Given the description of an element on the screen output the (x, y) to click on. 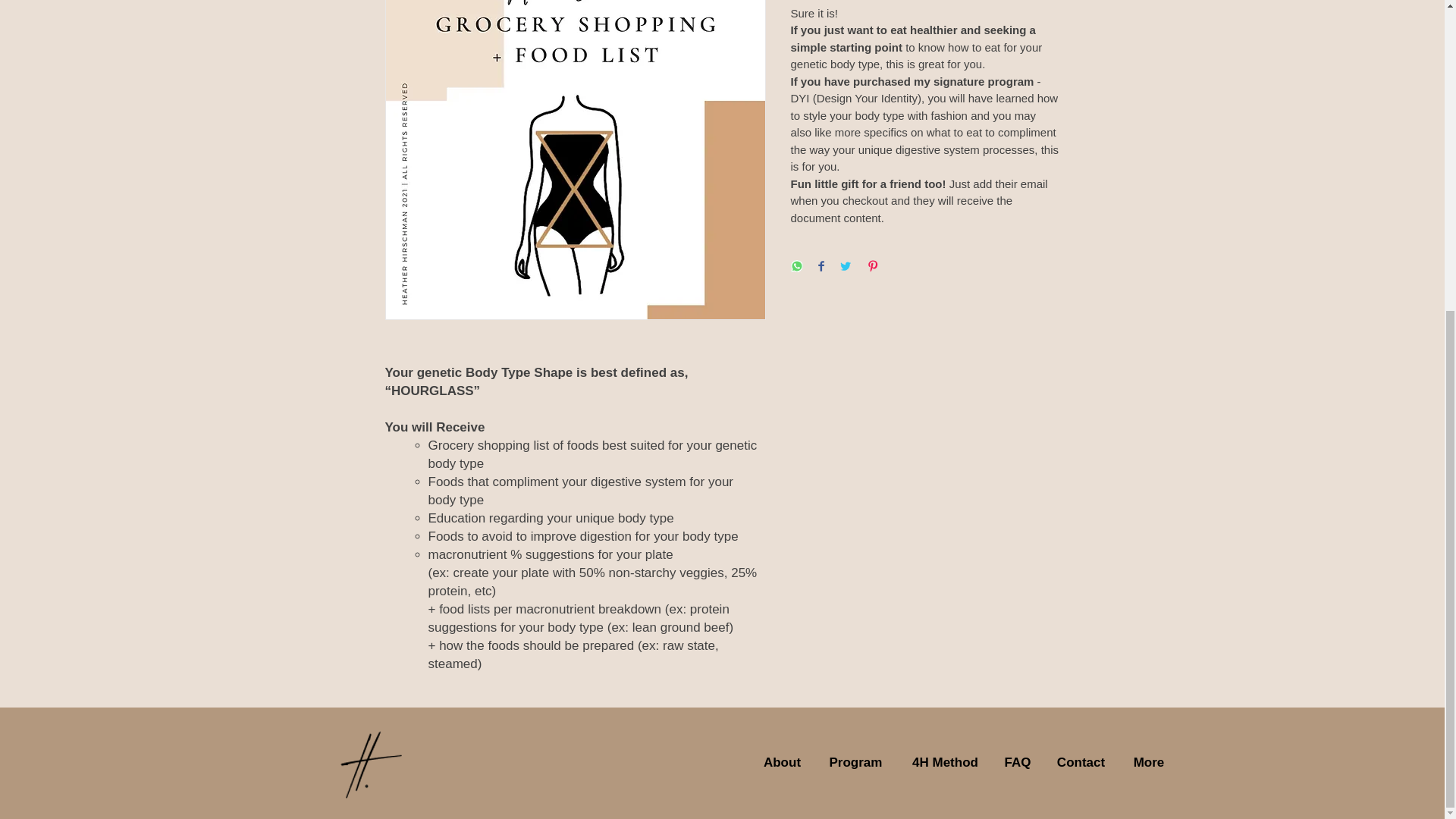
Program (855, 762)
4H Method (945, 762)
FAQ (1017, 762)
Contact (1081, 762)
About (782, 762)
